Given the description of an element on the screen output the (x, y) to click on. 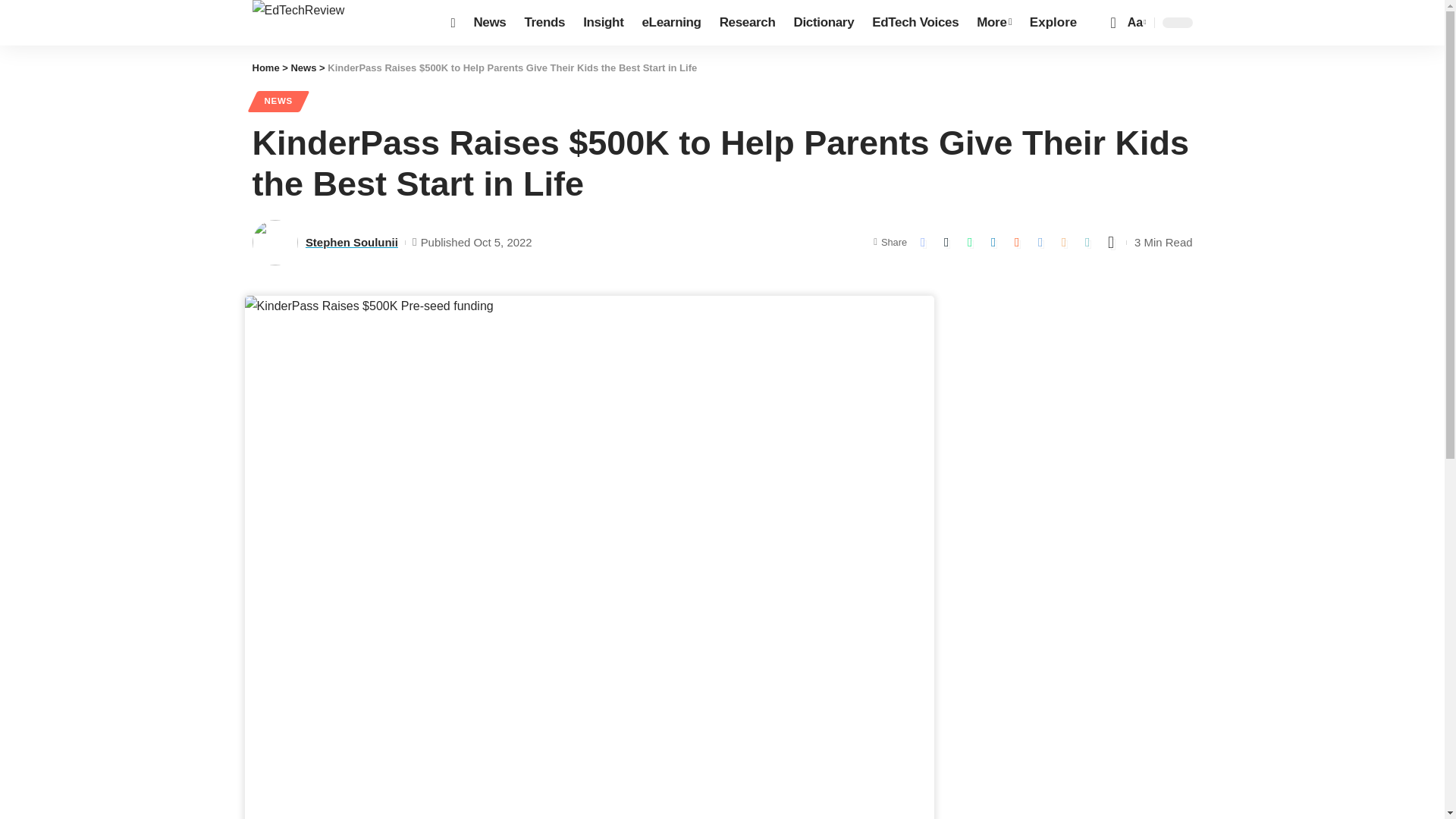
Explore (1053, 22)
Go to EdTechReview. (265, 67)
EdTechReview (338, 22)
Insight (602, 22)
Dictionary (823, 22)
Research (747, 22)
eLearning (670, 22)
News (489, 22)
EdTech Voices (915, 22)
More (994, 22)
